Given the description of an element on the screen output the (x, y) to click on. 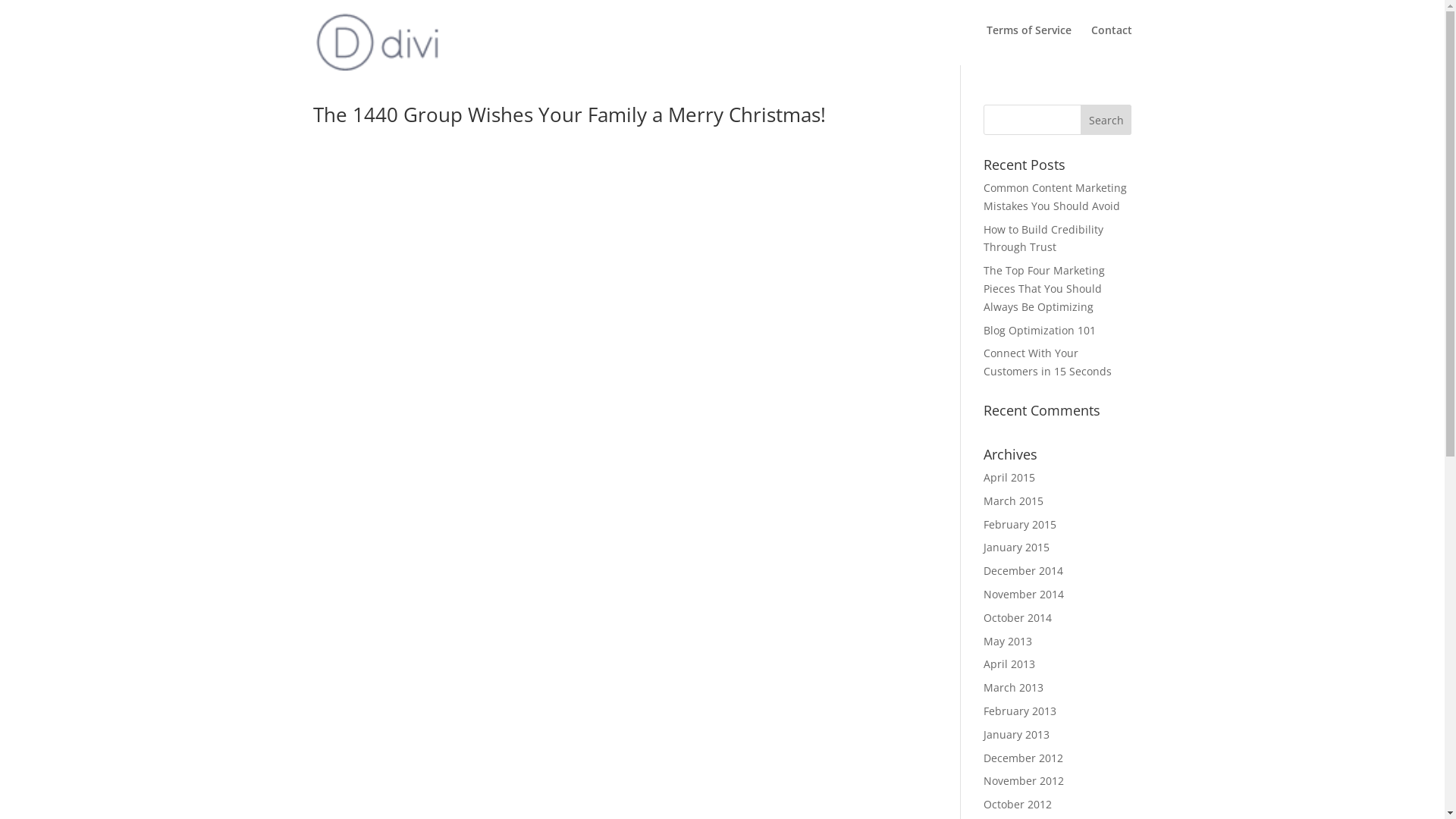
April 2013 Element type: text (1009, 663)
Connect With Your Customers in 15 Seconds Element type: text (1047, 361)
Search Element type: text (1106, 119)
Contact Element type: text (1110, 42)
February 2015 Element type: text (1019, 524)
March 2015 Element type: text (1013, 500)
May 2013 Element type: text (1007, 640)
October 2012 Element type: text (1017, 804)
November 2014 Element type: text (1023, 593)
Terms of Service Element type: text (1027, 42)
Blog Optimization 101 Element type: text (1039, 330)
How to Build Credibility Through Trust Element type: text (1043, 238)
April 2015 Element type: text (1009, 477)
March 2013 Element type: text (1013, 687)
January 2013 Element type: text (1016, 734)
December 2012 Element type: text (1023, 757)
December 2014 Element type: text (1023, 570)
November 2012 Element type: text (1023, 780)
The 1440 Group Wishes Your Family a Merry Christmas! Element type: text (568, 114)
February 2013 Element type: text (1019, 710)
Common Content Marketing Mistakes You Should Avoid Element type: text (1054, 196)
January 2015 Element type: text (1016, 546)
October 2014 Element type: text (1017, 617)
